Given the description of an element on the screen output the (x, y) to click on. 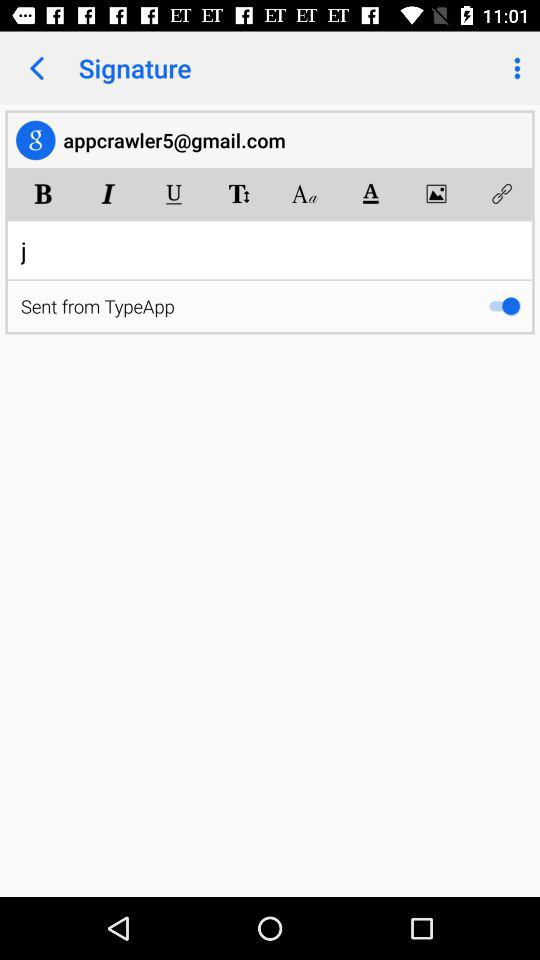
launch app next to signature (513, 67)
